Given the description of an element on the screen output the (x, y) to click on. 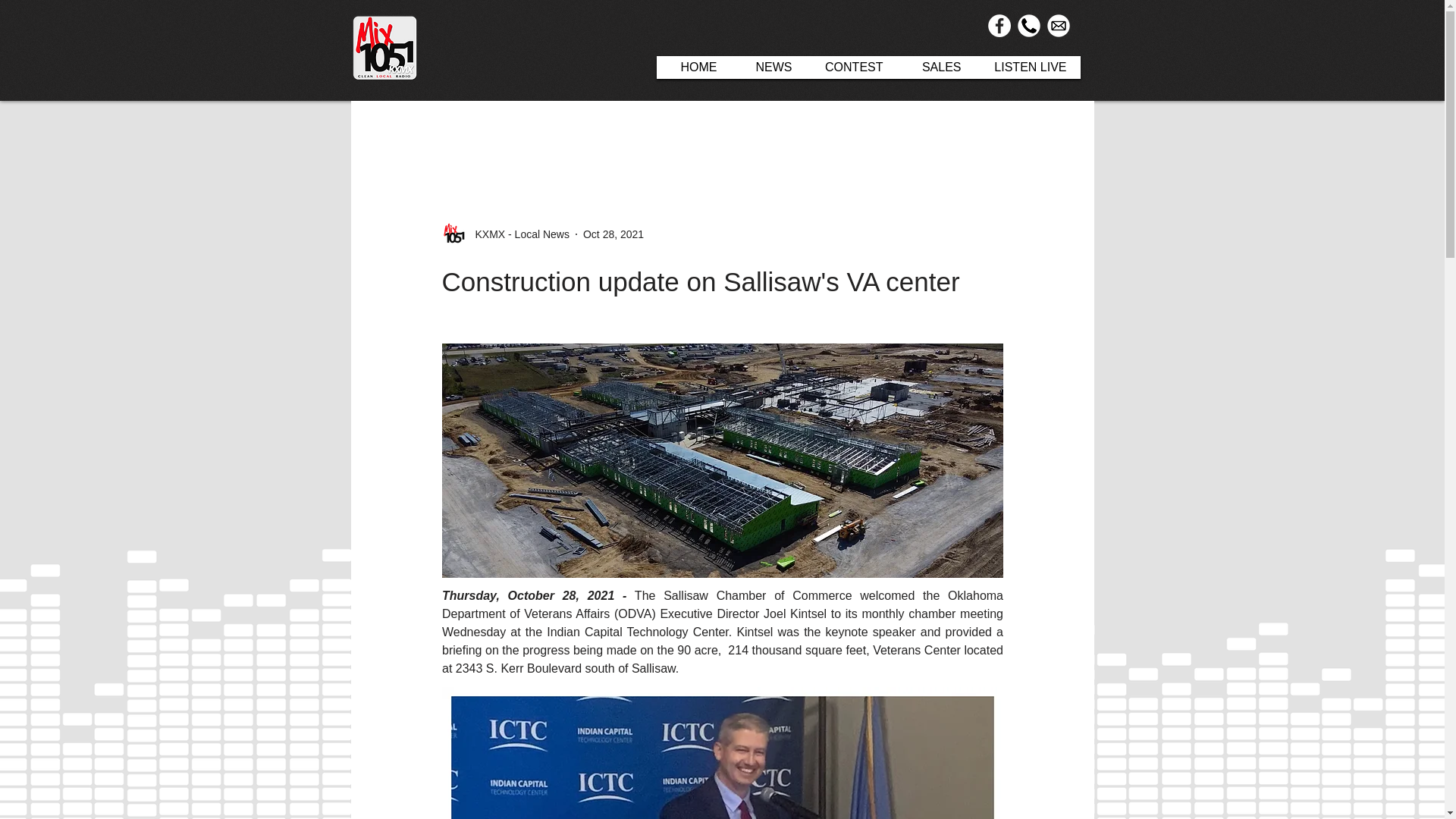
KXMX - Local News (505, 233)
NEWS (768, 67)
LISTEN LIVE (1027, 67)
Oct 28, 2021 (613, 233)
SALES (935, 67)
HOME (693, 67)
KXMX - Local News (517, 233)
CONTEST (850, 67)
